Given the description of an element on the screen output the (x, y) to click on. 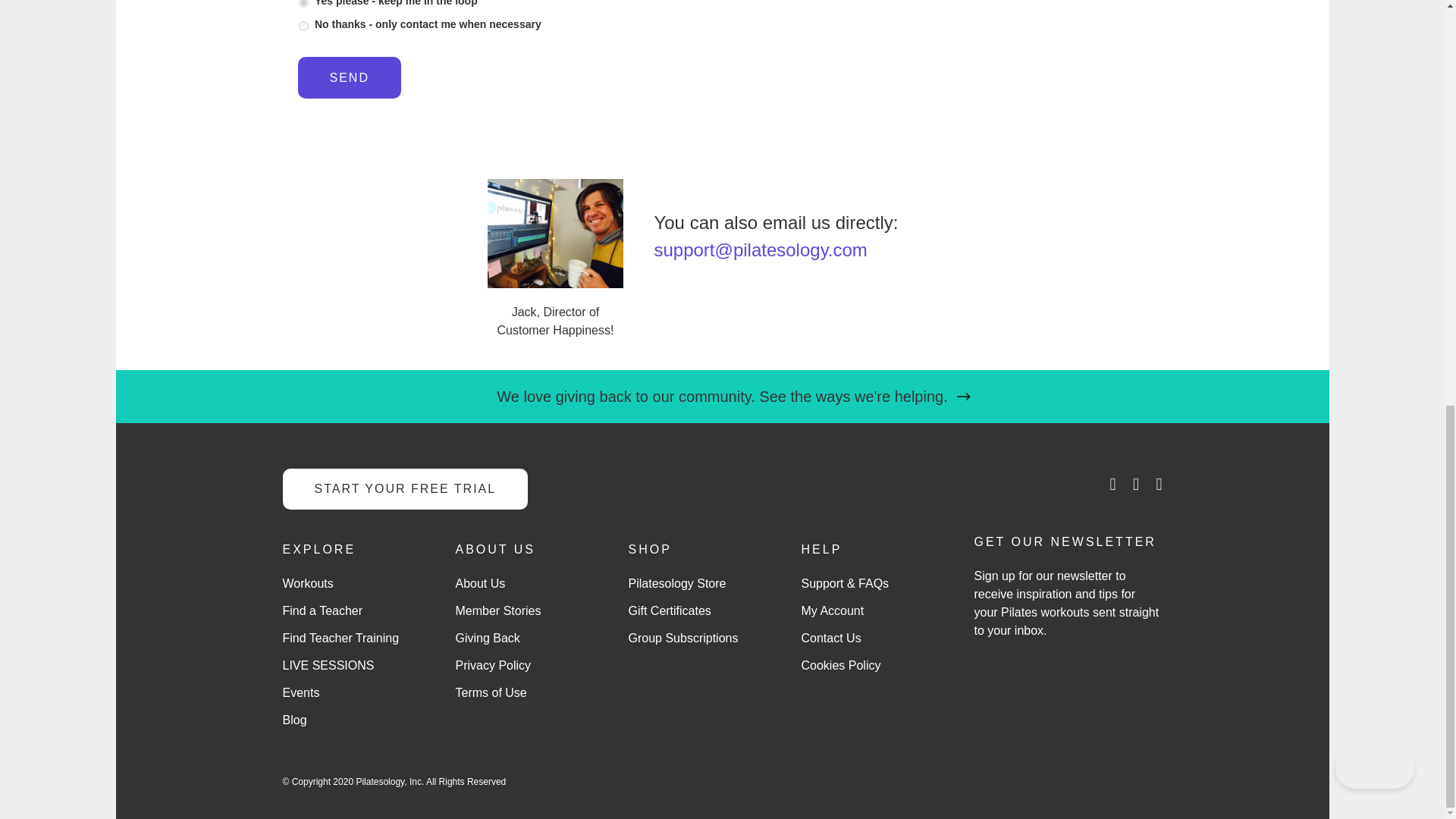
Pilatesology Work Station! (554, 233)
No thanks - only contact me when necessary (303, 26)
Yes please - keep me in the loop (303, 3)
Send (348, 77)
